Given the description of an element on the screen output the (x, y) to click on. 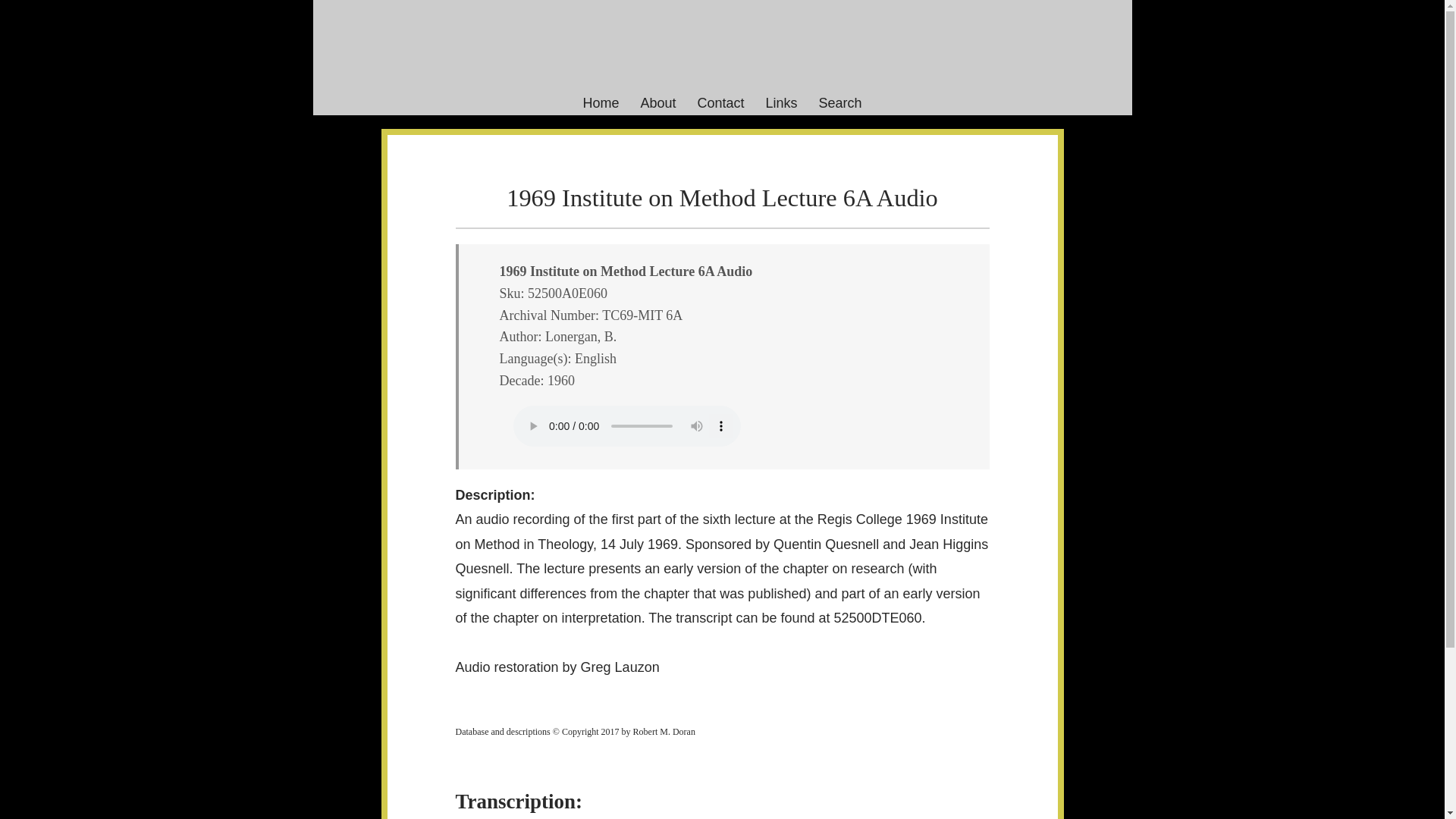
Links (781, 102)
Search (839, 102)
About (657, 102)
Contact (720, 102)
Home (600, 102)
